Given the description of an element on the screen output the (x, y) to click on. 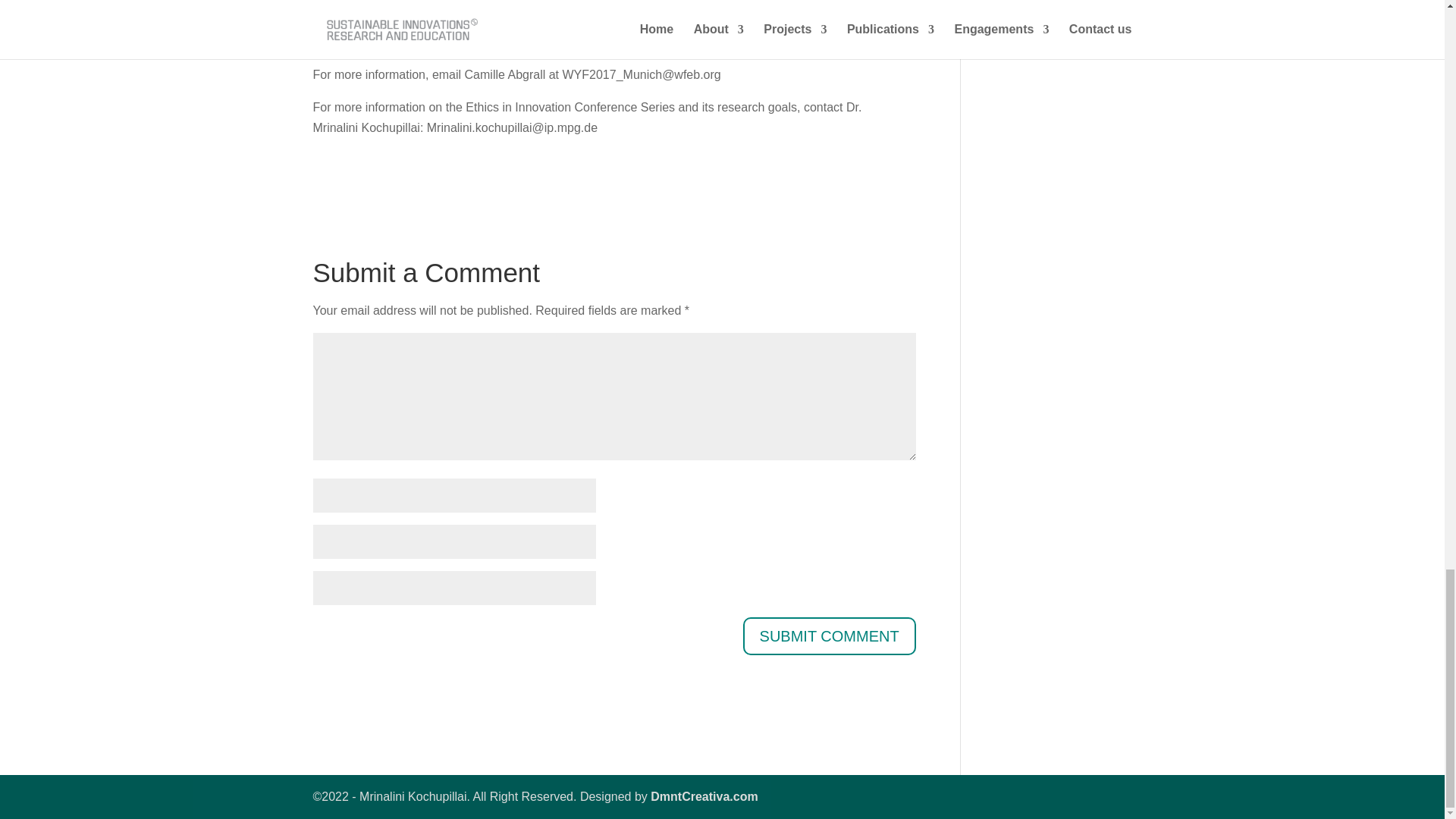
Submit Comment (828, 636)
